Given the description of an element on the screen output the (x, y) to click on. 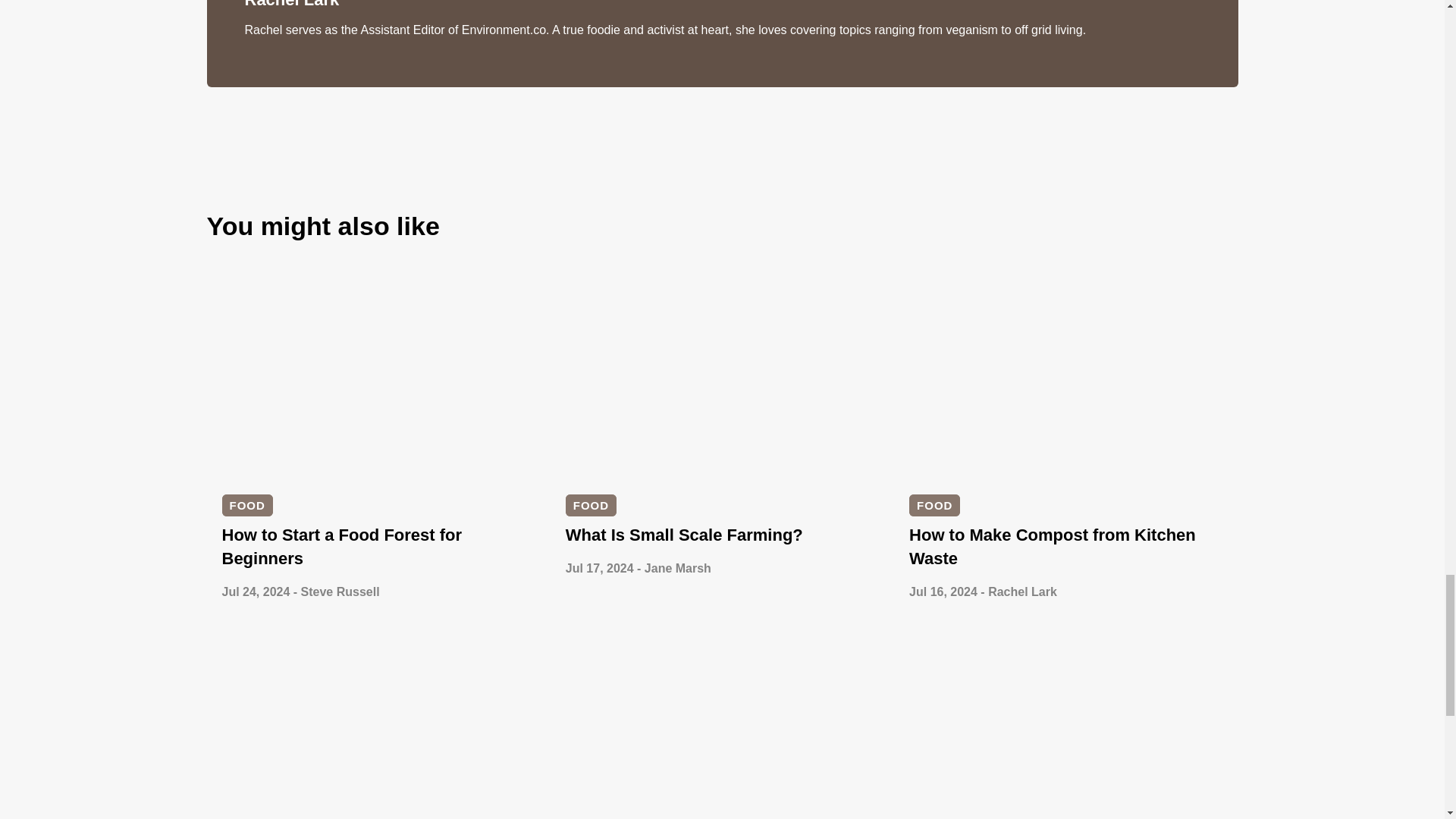
What Is Small Scale Farming? (684, 534)
How to Start a Food Forest for Beginners (341, 546)
Steve Russell (340, 591)
Jane Marsh (678, 567)
What Is Small Scale Farming? (684, 534)
FOOD (590, 505)
FOOD (246, 505)
How to Make Compost from Kitchen Waste (1051, 546)
FOOD (933, 505)
How to Start a Food Forest for Beginners (341, 546)
